Given the description of an element on the screen output the (x, y) to click on. 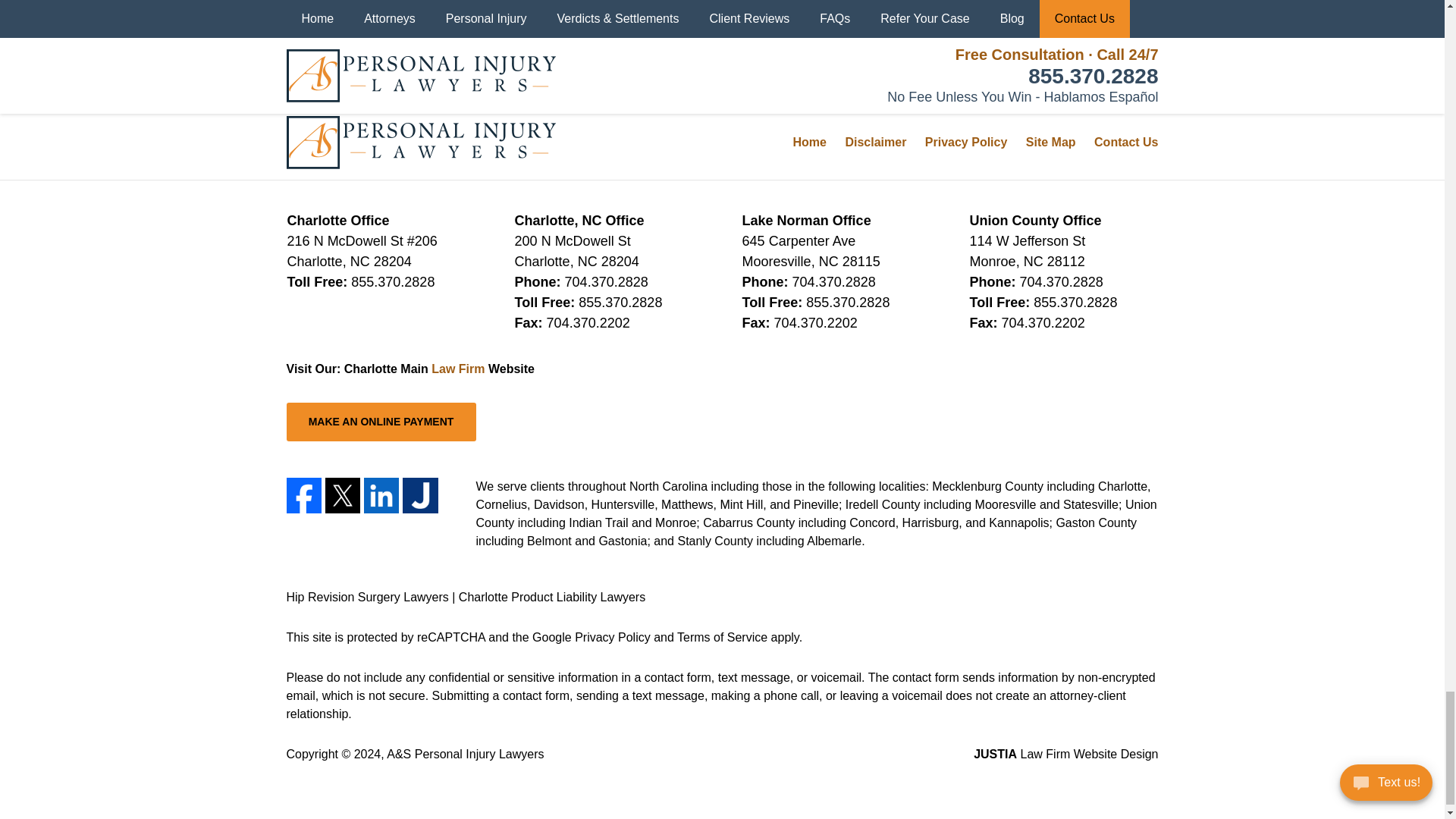
Justia (420, 494)
Facebook (303, 494)
Twitter (341, 494)
LinkedIn (381, 494)
